Given the description of an element on the screen output the (x, y) to click on. 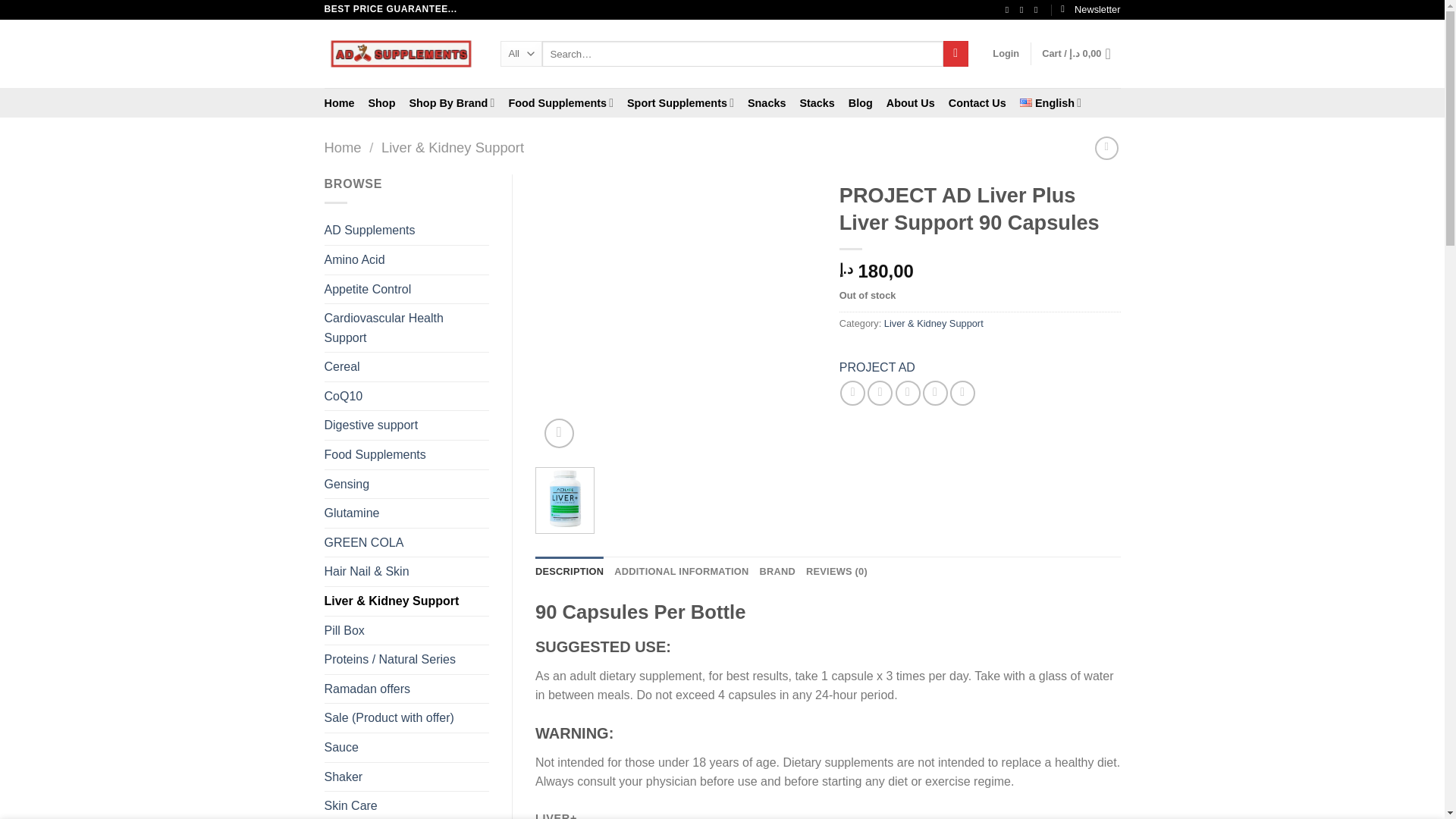
Search (955, 53)
Home (339, 103)
Newsletter (1090, 9)
Food Supplements (560, 102)
Shop By Brand (452, 102)
Cart (1080, 53)
Sign up for Newsletter (1090, 9)
liver.1Large2 (675, 314)
AD Supplements - Best Price Guarantee (400, 53)
Zoom (558, 432)
View brand (877, 367)
Shop (381, 103)
